Given the description of an element on the screen output the (x, y) to click on. 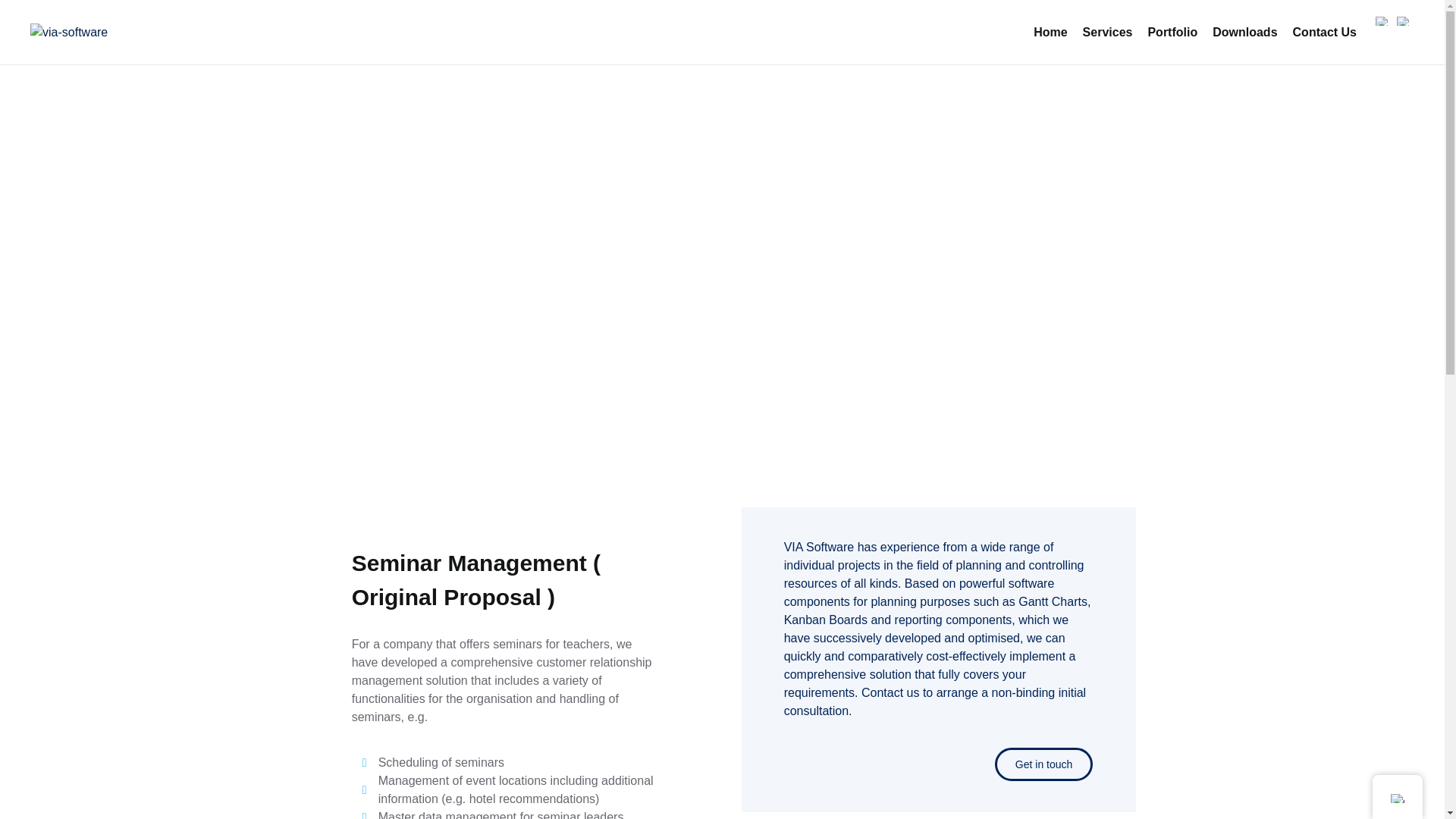
German (1382, 20)
English (1403, 20)
English (1397, 798)
via-software (68, 31)
Contact Us (1324, 32)
Get in touch (1043, 764)
Downloads (1244, 32)
